Given the description of an element on the screen output the (x, y) to click on. 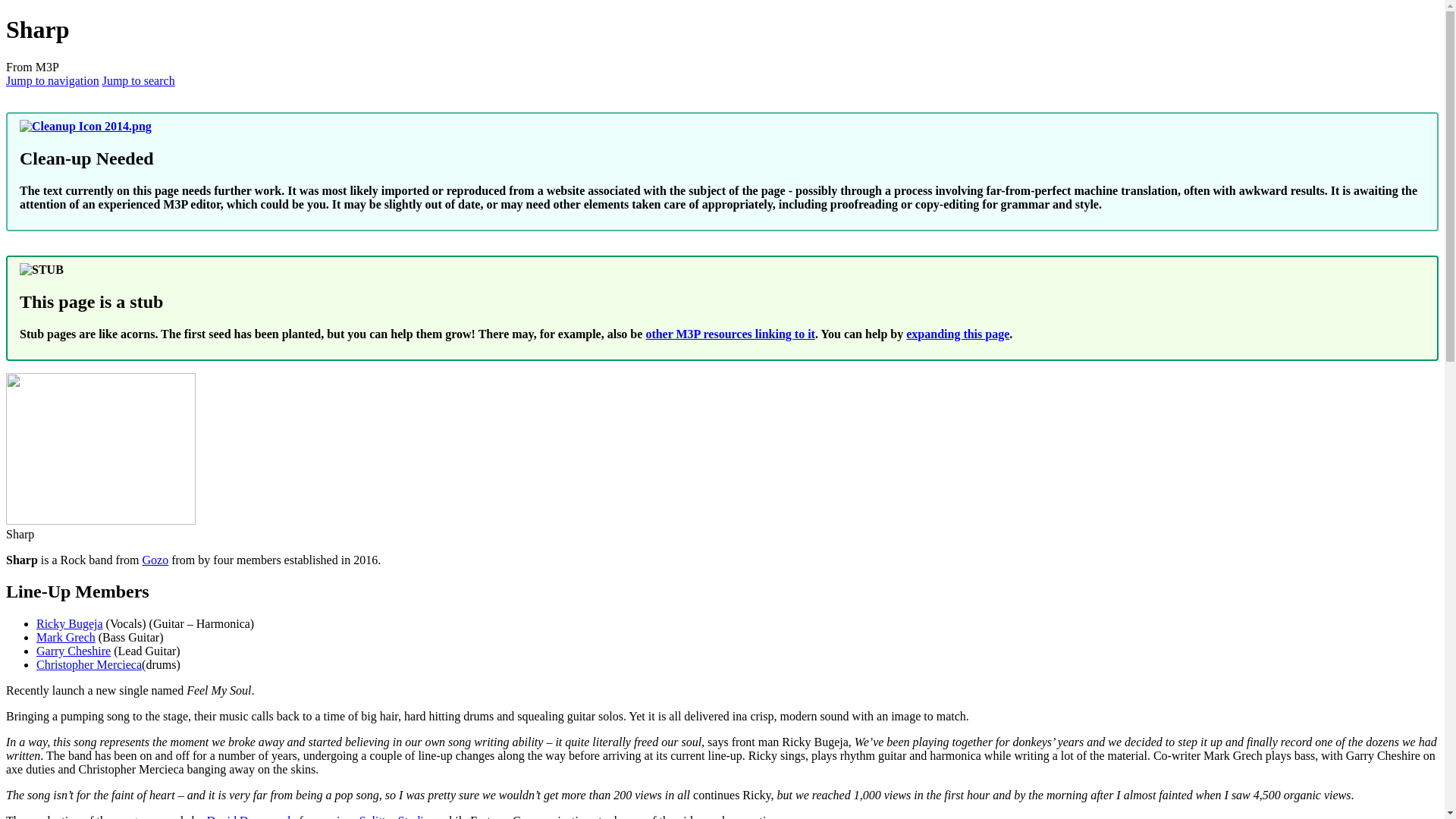
Jump to search (137, 80)
Ricky Bugeja (69, 623)
Christopher Mercieca (88, 664)
other M3P resources linking to it (730, 333)
Garry Cheshire (73, 650)
STUB (42, 269)
Jump to navigation (52, 80)
Mark Grech (66, 636)
Gozo (155, 559)
David Depasquale (251, 816)
